Given the description of an element on the screen output the (x, y) to click on. 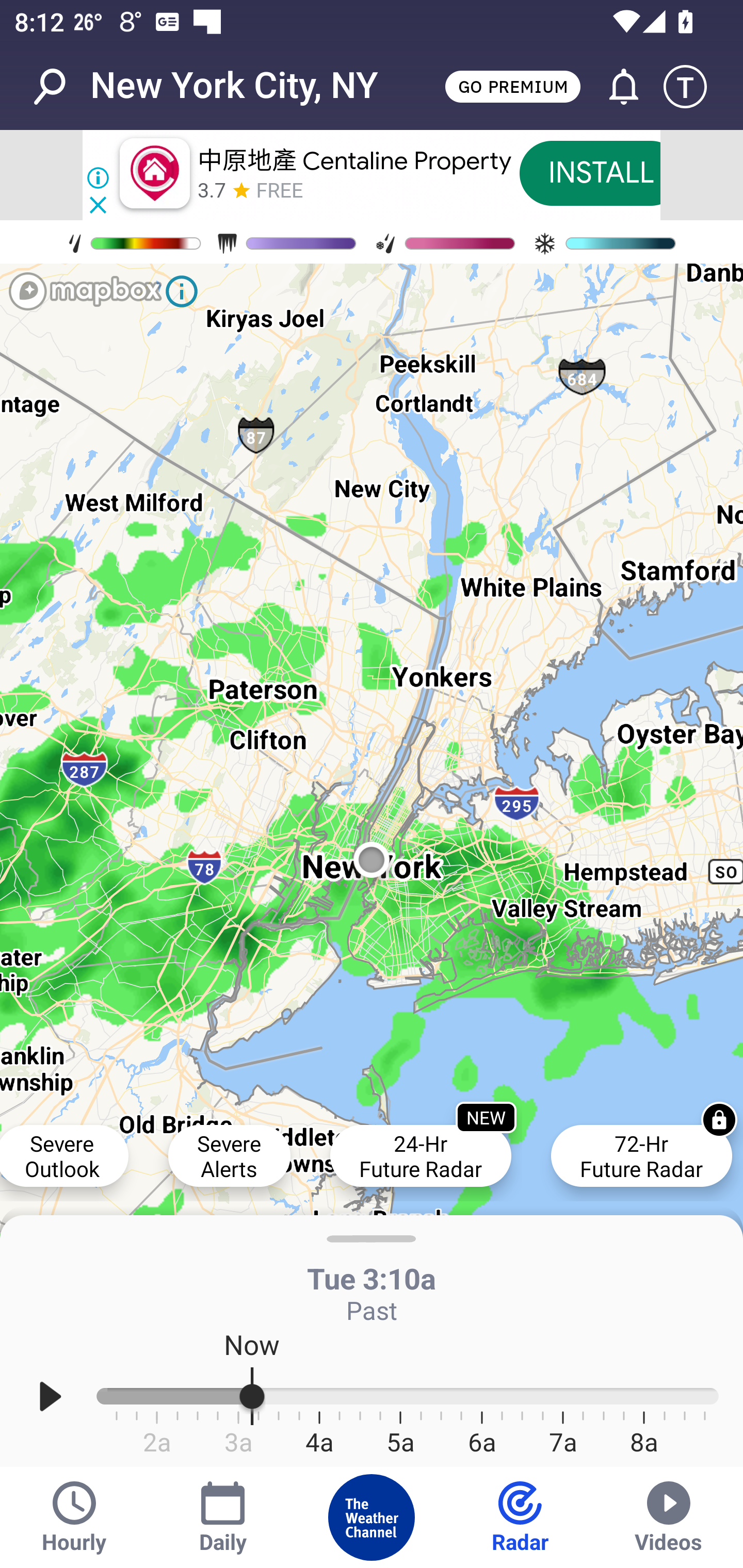
Search (59, 86)
Go to Alerts and Notifications (614, 86)
Setting icon T (694, 86)
New York City, NY (234, 85)
GO PREMIUM (512, 85)
INSTALL (600, 173)
中原地產 Centaline Property (354, 160)
Severe
Outlook Severe Outlook (64, 1155)
Severe
Alerts Severe Alerts (228, 1155)
24-Hr
Future Radar 24 Hour Future Radar (420, 1155)
Play (50, 1396)
Hourly Tab Hourly (74, 1517)
Daily Tab Daily (222, 1517)
Home Tab (371, 1517)
Videos Tab Videos (668, 1517)
